Given the description of an element on the screen output the (x, y) to click on. 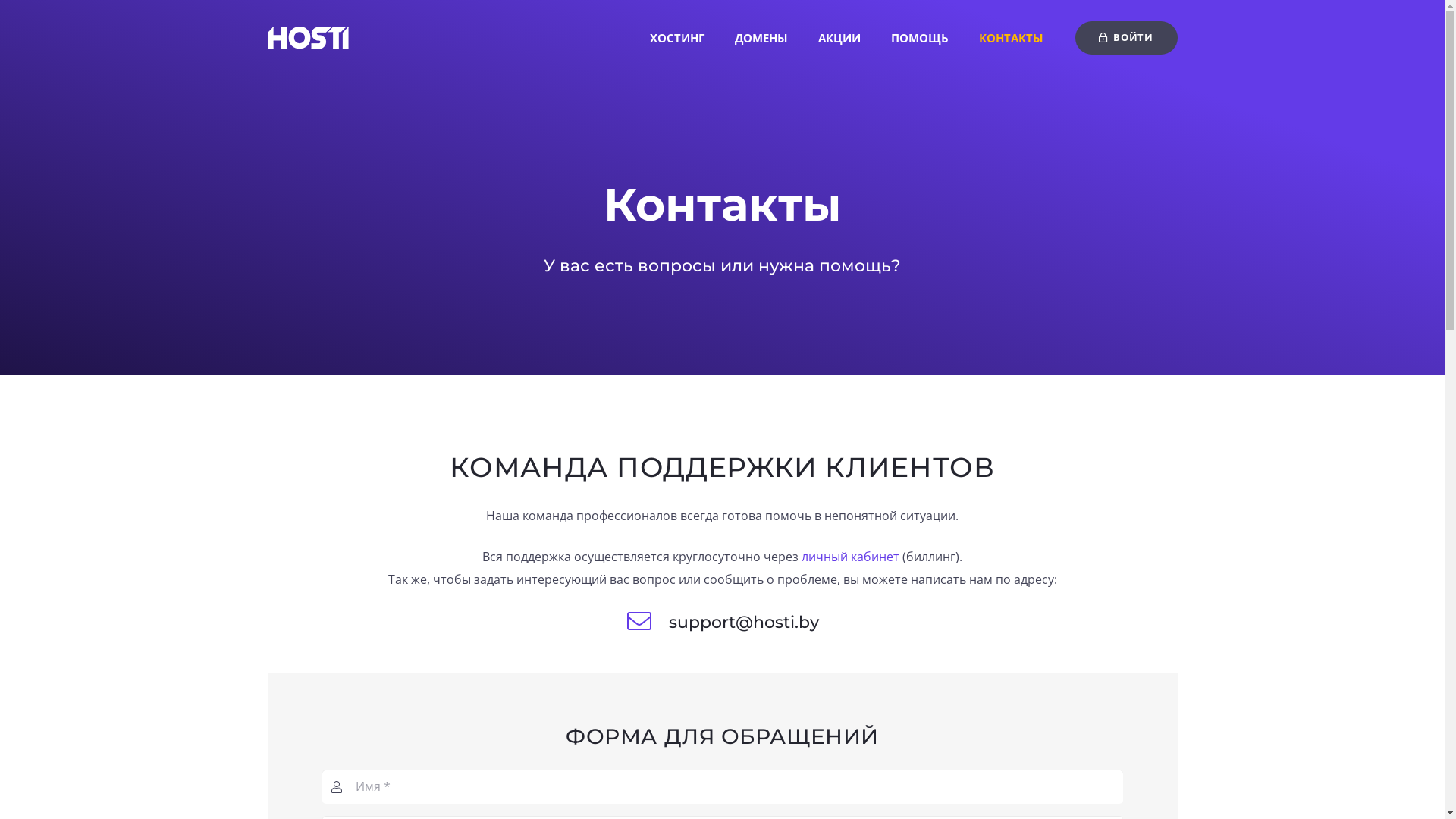
support@hosti.by Element type: text (743, 622)
Facebook Element type: hover (954, 682)
Vkontakte Element type: hover (914, 682)
